Given the description of an element on the screen output the (x, y) to click on. 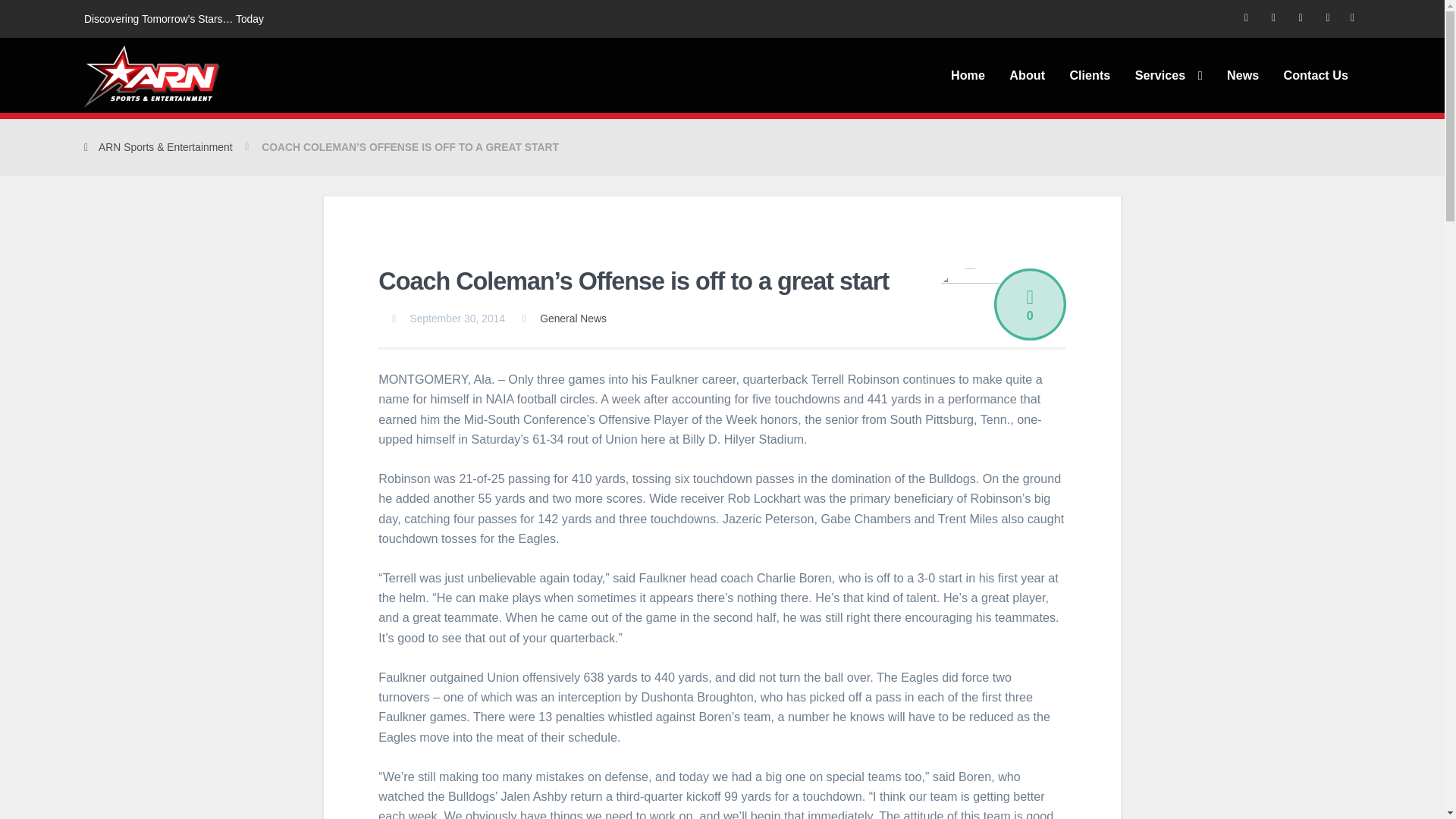
YouTube (1328, 18)
News (1242, 75)
Twitter (1273, 18)
Facebook (1300, 18)
Services (1168, 75)
RSS (1245, 18)
LinkedIn (1351, 18)
0 (1029, 304)
Home (968, 75)
About (1027, 75)
General News (573, 318)
Contact Us (1315, 75)
Clients (1089, 75)
Discovering Tomorrow's Stars... Today (151, 76)
